Given the description of an element on the screen output the (x, y) to click on. 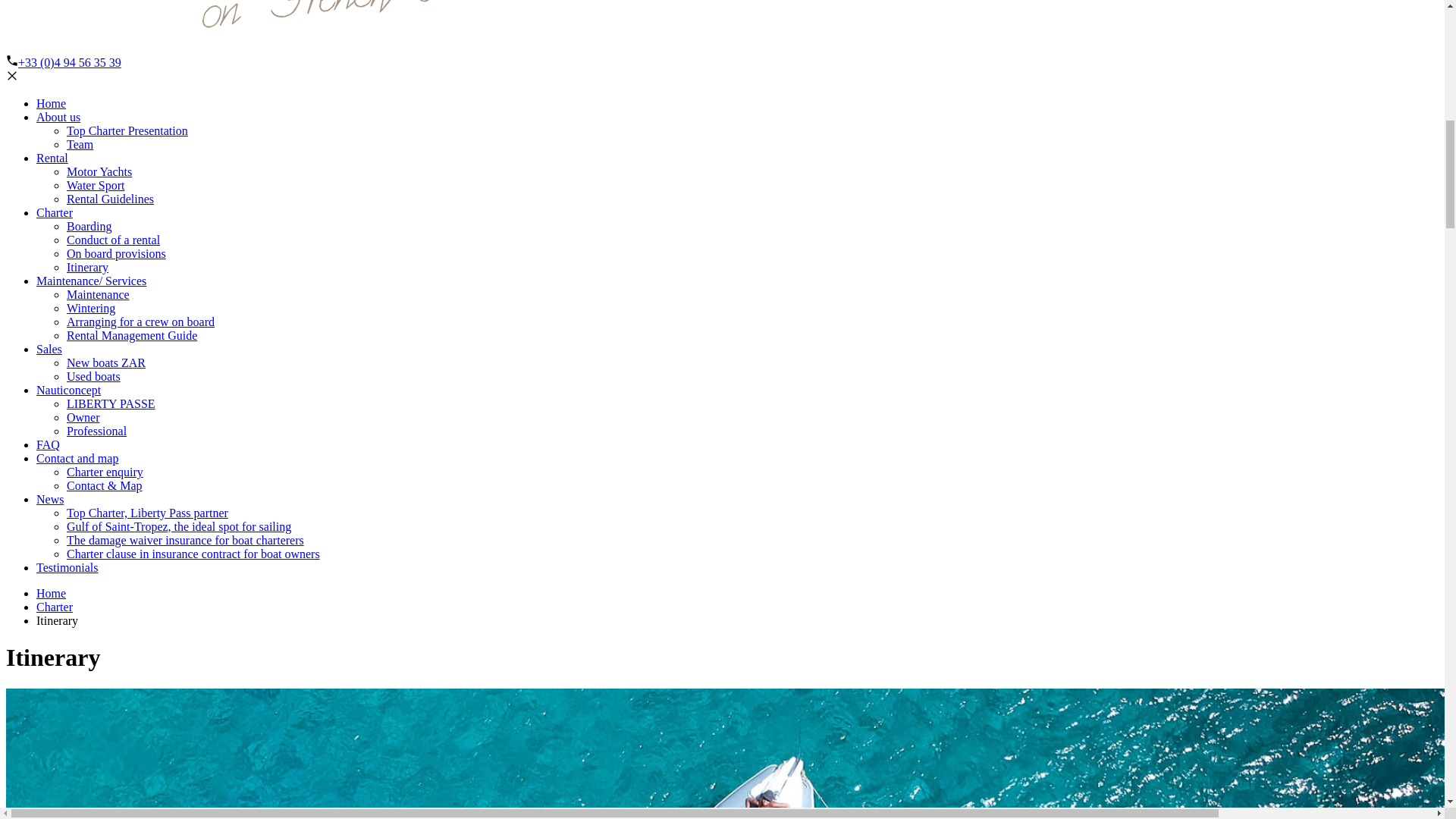
Plan your charter with us! (54, 212)
Professional (96, 431)
Itinerary (86, 267)
Wintering (90, 308)
Owner (83, 417)
Water Sport (94, 185)
Rental (52, 157)
Arranging for a crew on board (140, 321)
Nauticoncept (68, 390)
About us (58, 116)
Maintenance (97, 294)
Conduct of a rental (113, 239)
Motor Yachts (99, 171)
Team (79, 144)
Rental Management Guide (131, 335)
